Given the description of an element on the screen output the (x, y) to click on. 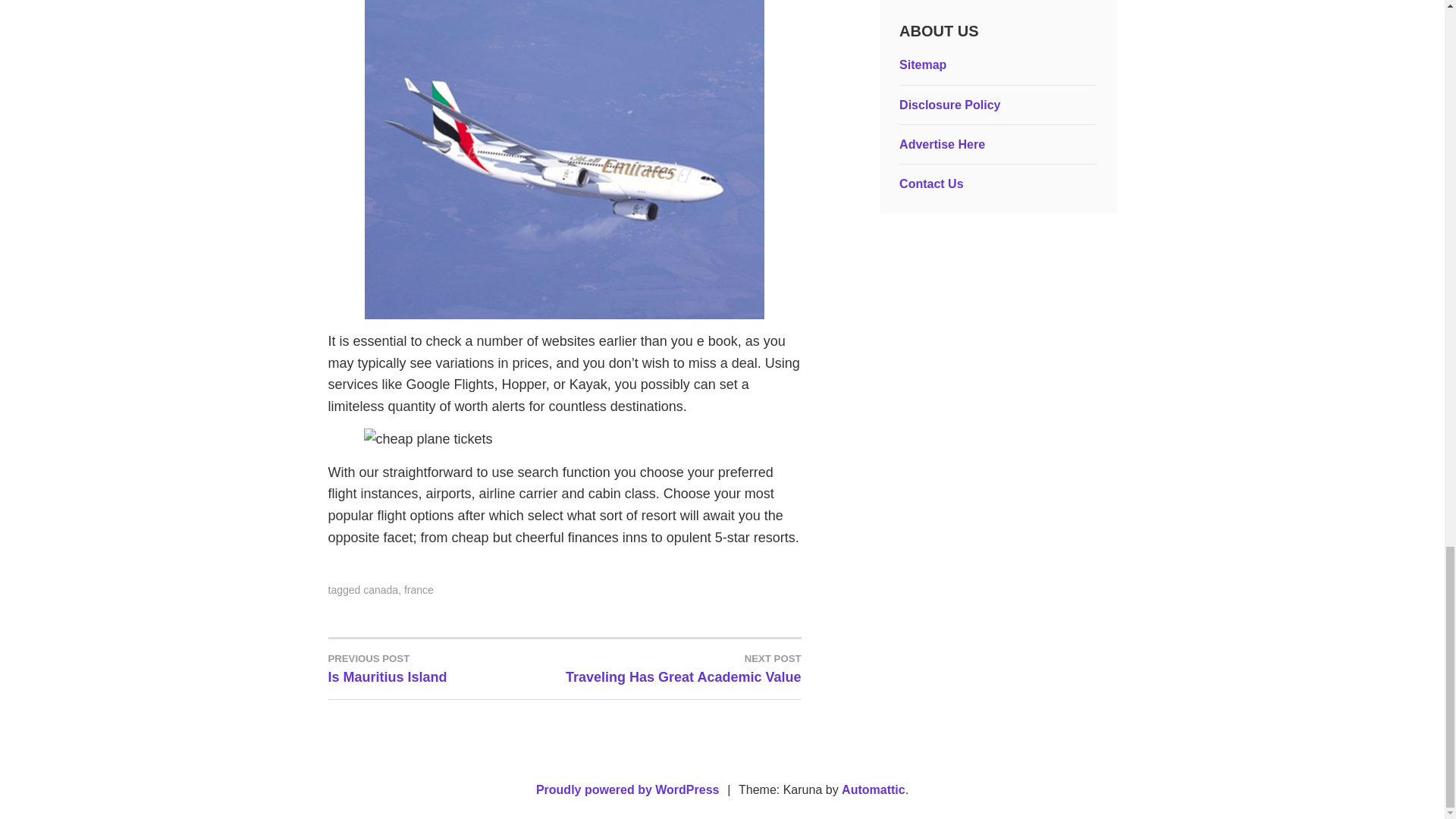
france (418, 589)
canada (445, 667)
